Given the description of an element on the screen output the (x, y) to click on. 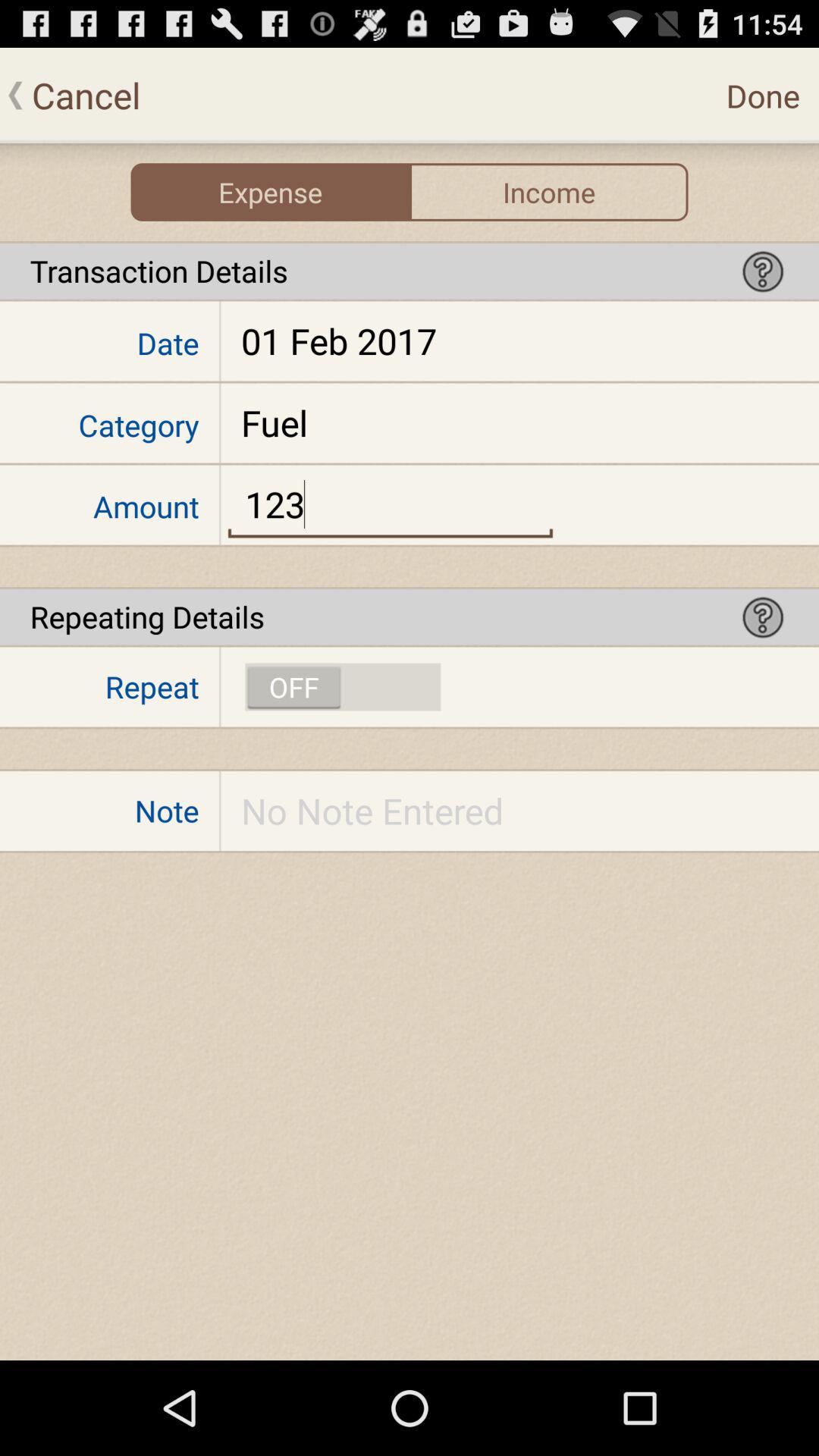
toggle repeat (342, 686)
